Given the description of an element on the screen output the (x, y) to click on. 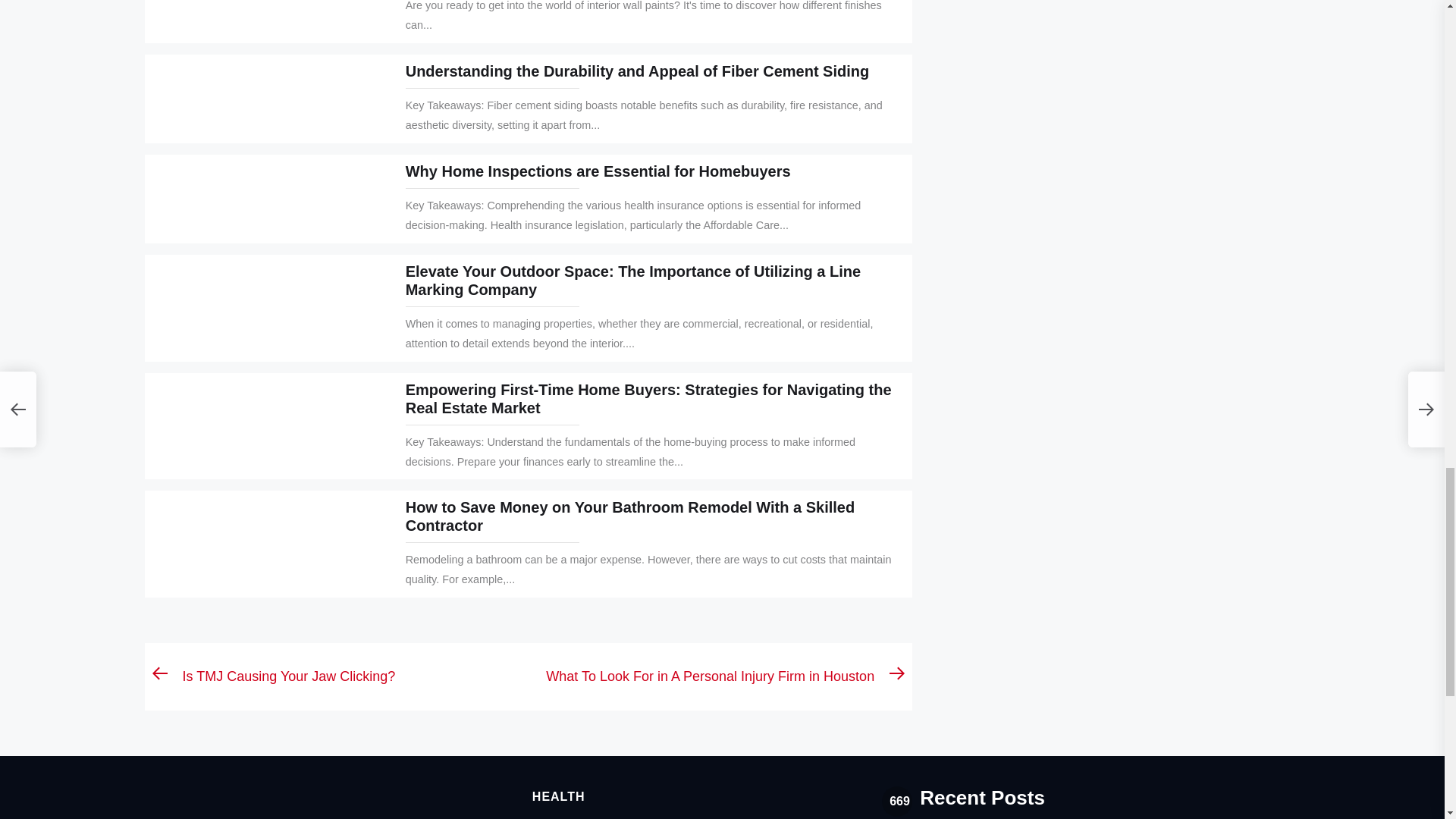
Why Home Inspections are Essential for Homebuyers (598, 170)
